Given the description of an element on the screen output the (x, y) to click on. 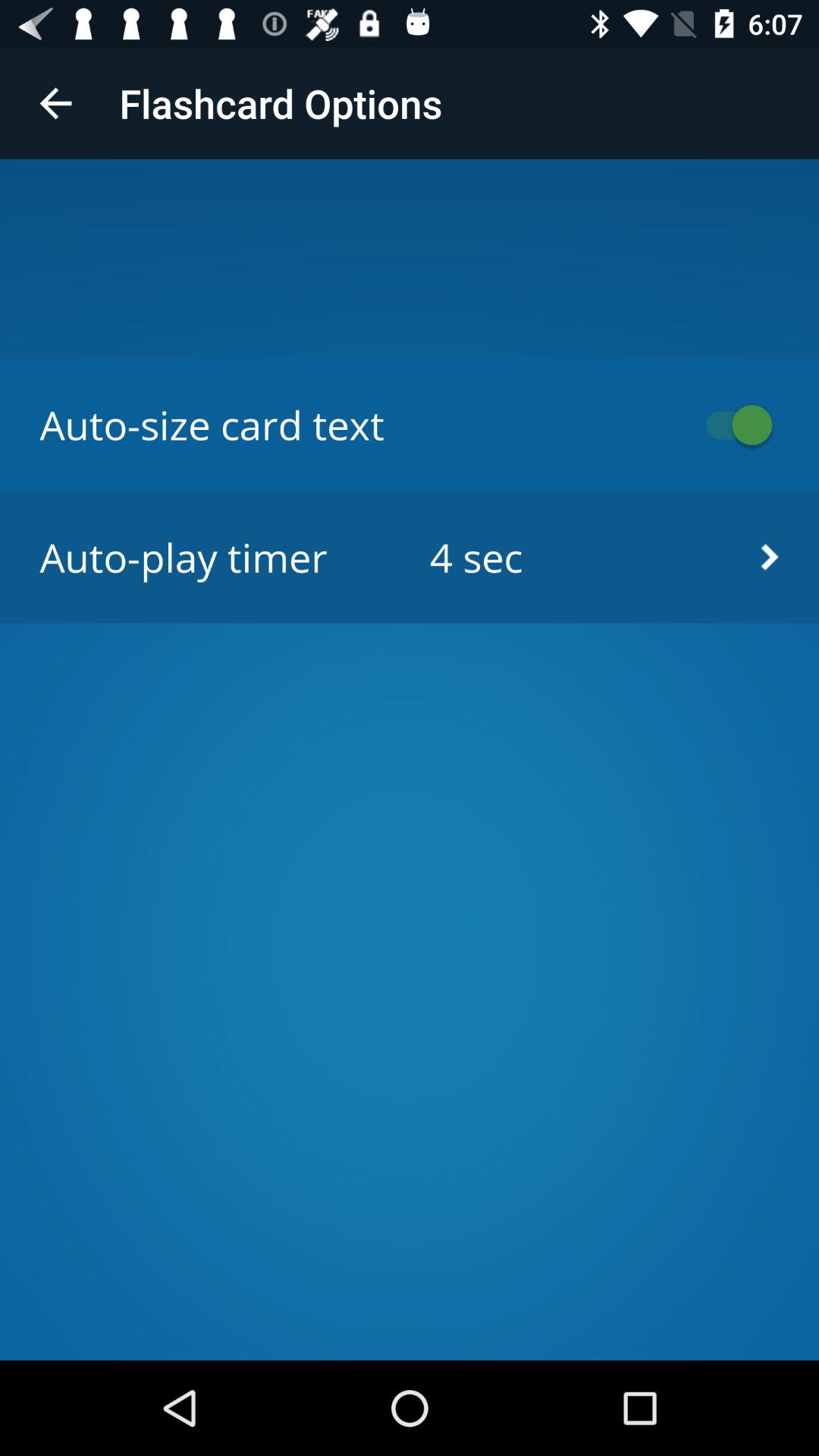
open icon above auto size card (55, 103)
